Given the description of an element on the screen output the (x, y) to click on. 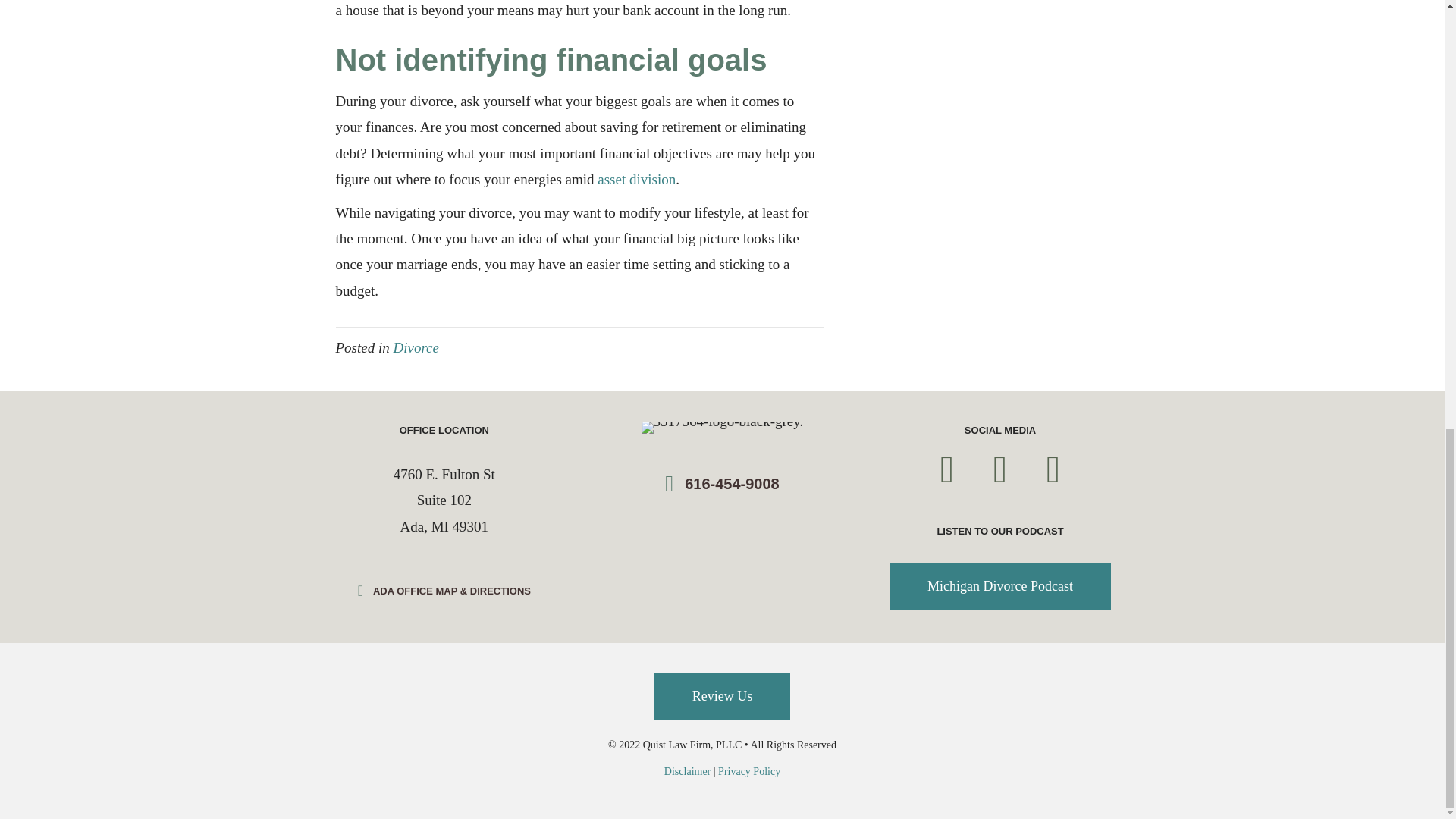
Divorce (416, 347)
asset division (635, 179)
3517564-logo-black-grey. (722, 427)
